Given the description of an element on the screen output the (x, y) to click on. 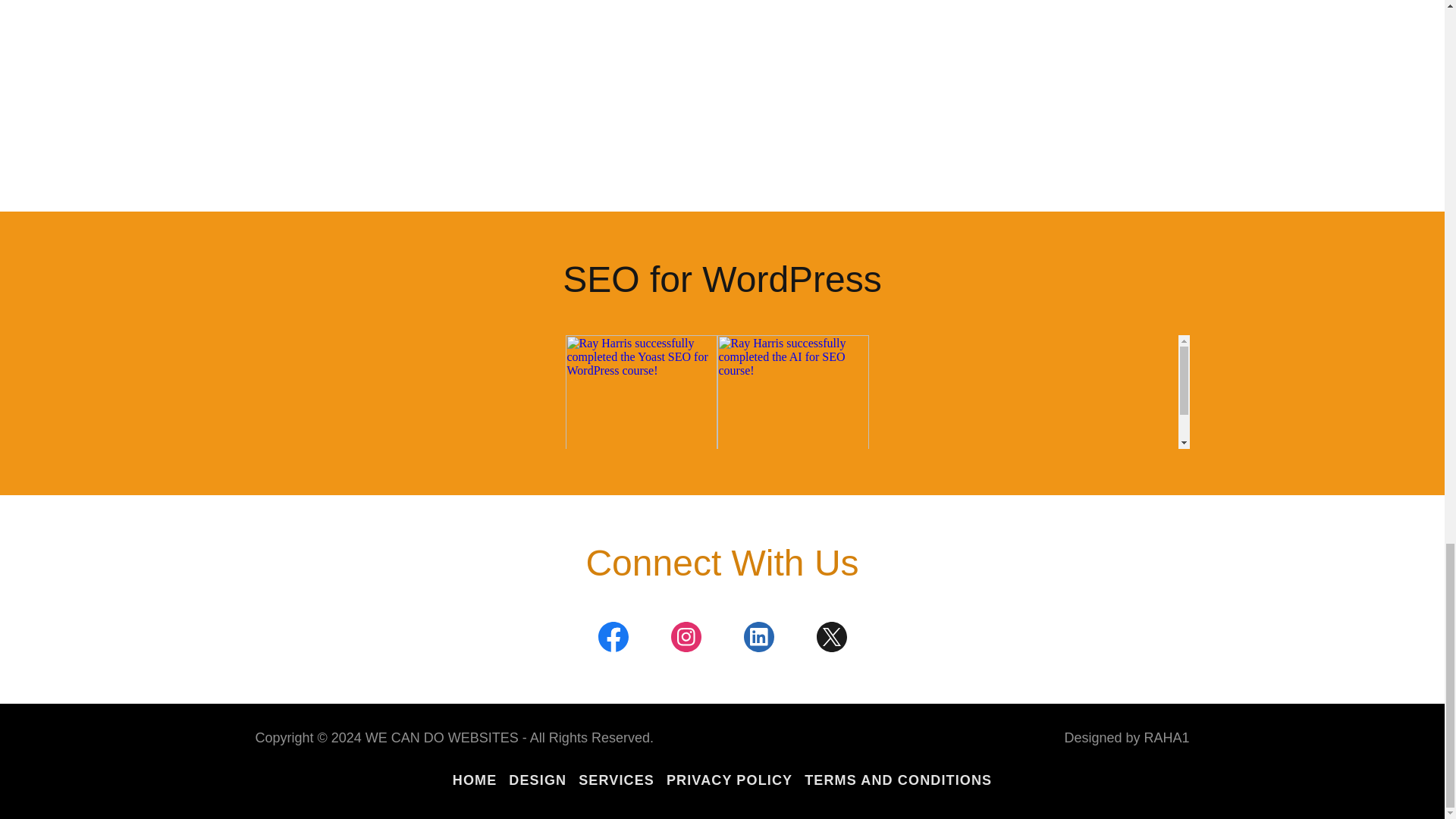
DESIGN (537, 780)
HOME (474, 780)
SERVICES (616, 780)
